Given the description of an element on the screen output the (x, y) to click on. 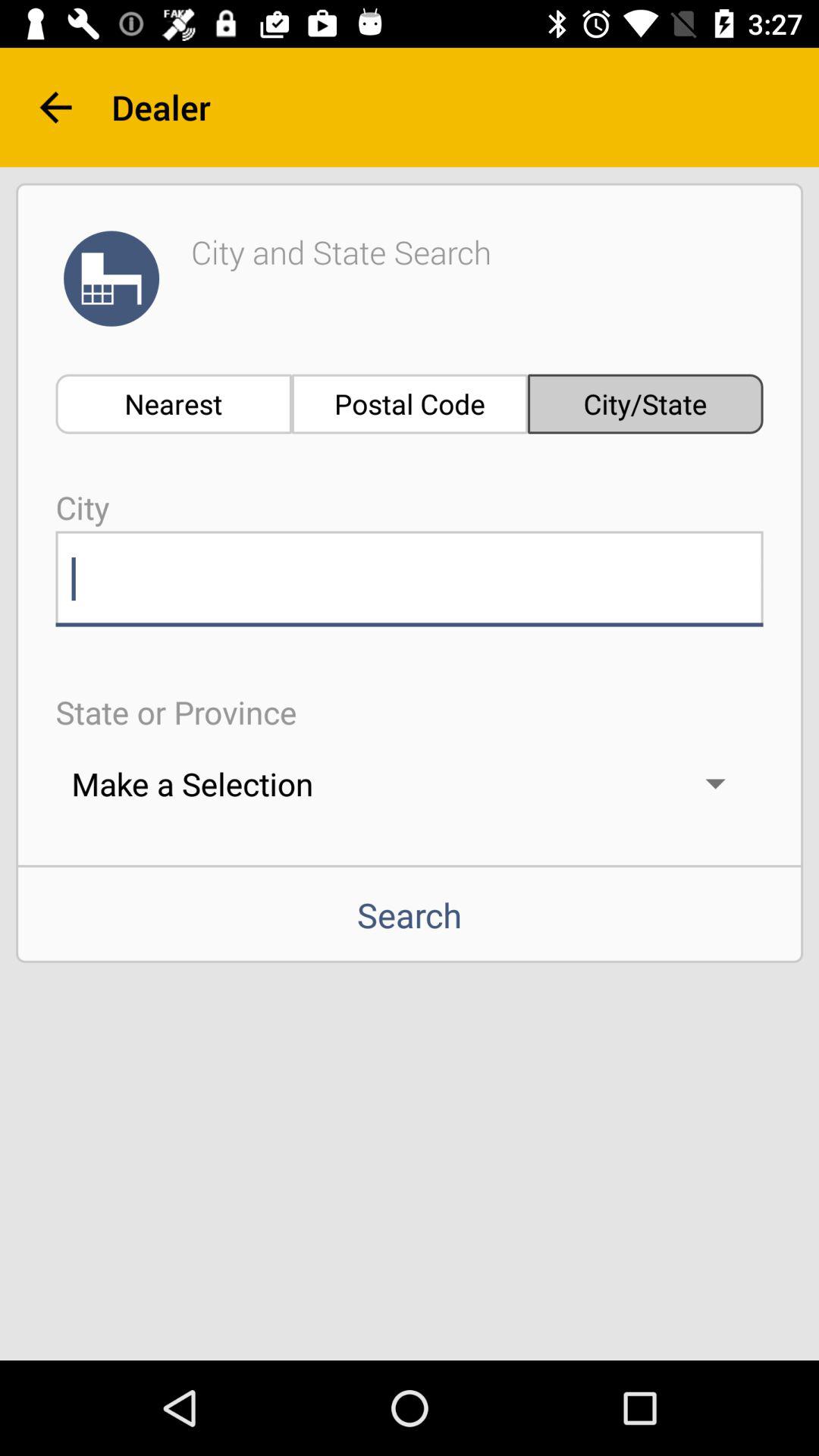
enter city (409, 578)
